Given the description of an element on the screen output the (x, y) to click on. 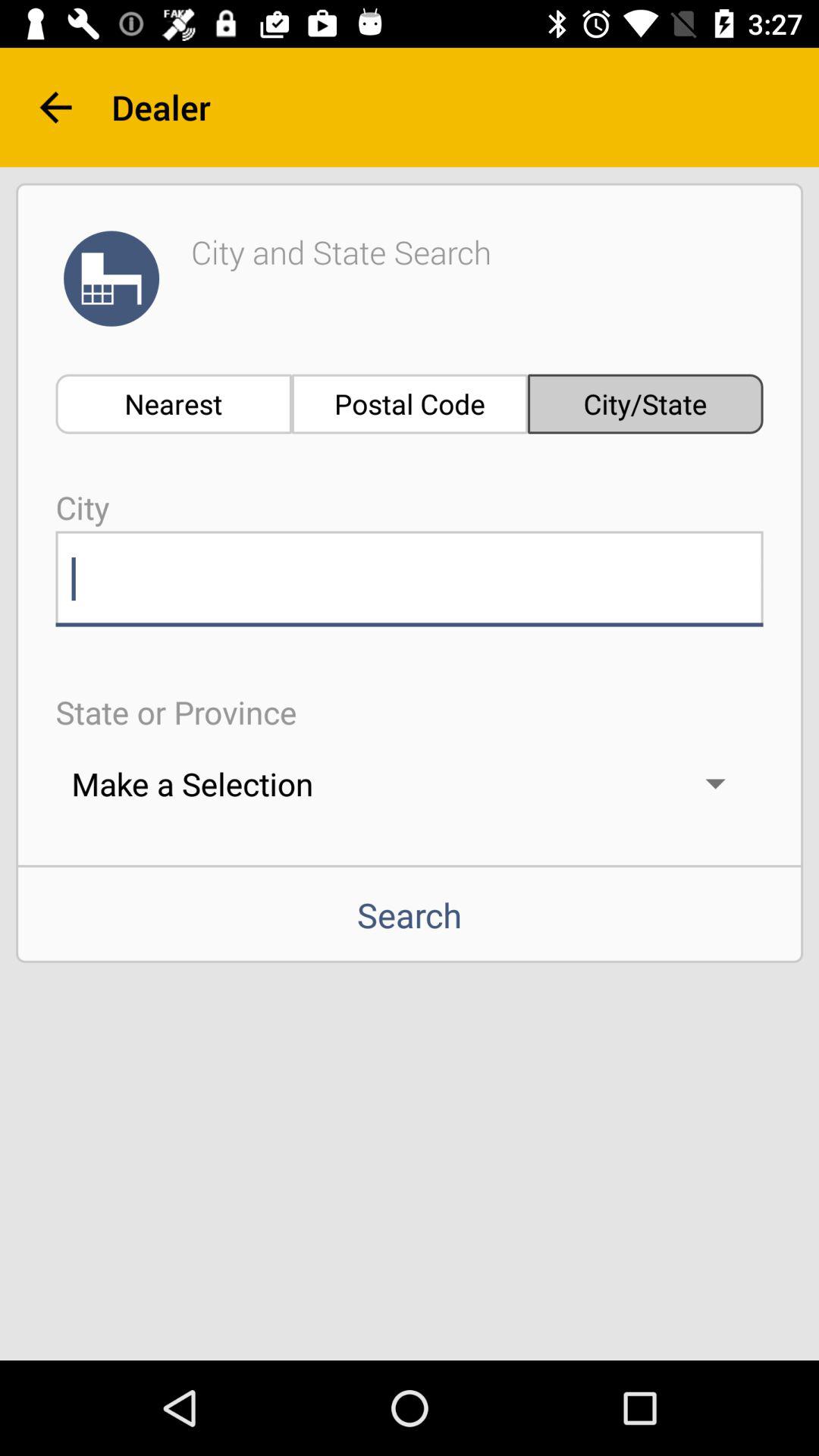
enter city (409, 578)
